Given the description of an element on the screen output the (x, y) to click on. 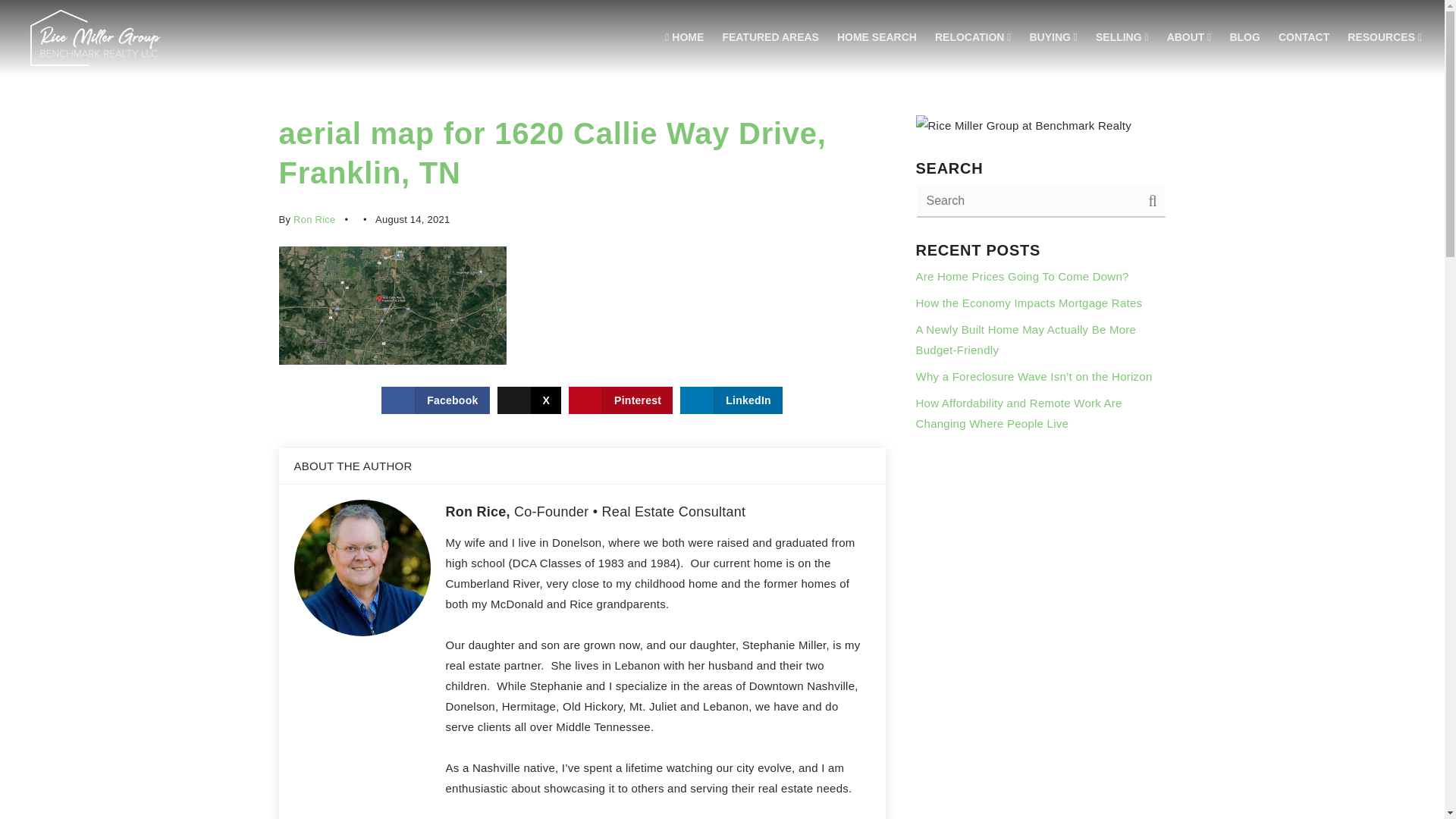
FEATURED AREAS (770, 37)
RELOCATION (973, 37)
Posts by Ron Rice (314, 219)
HOME (684, 37)
ABOUT (1189, 37)
SELLING (1121, 37)
HOME SEARCH (877, 37)
BUYING (1053, 37)
